Given the description of an element on the screen output the (x, y) to click on. 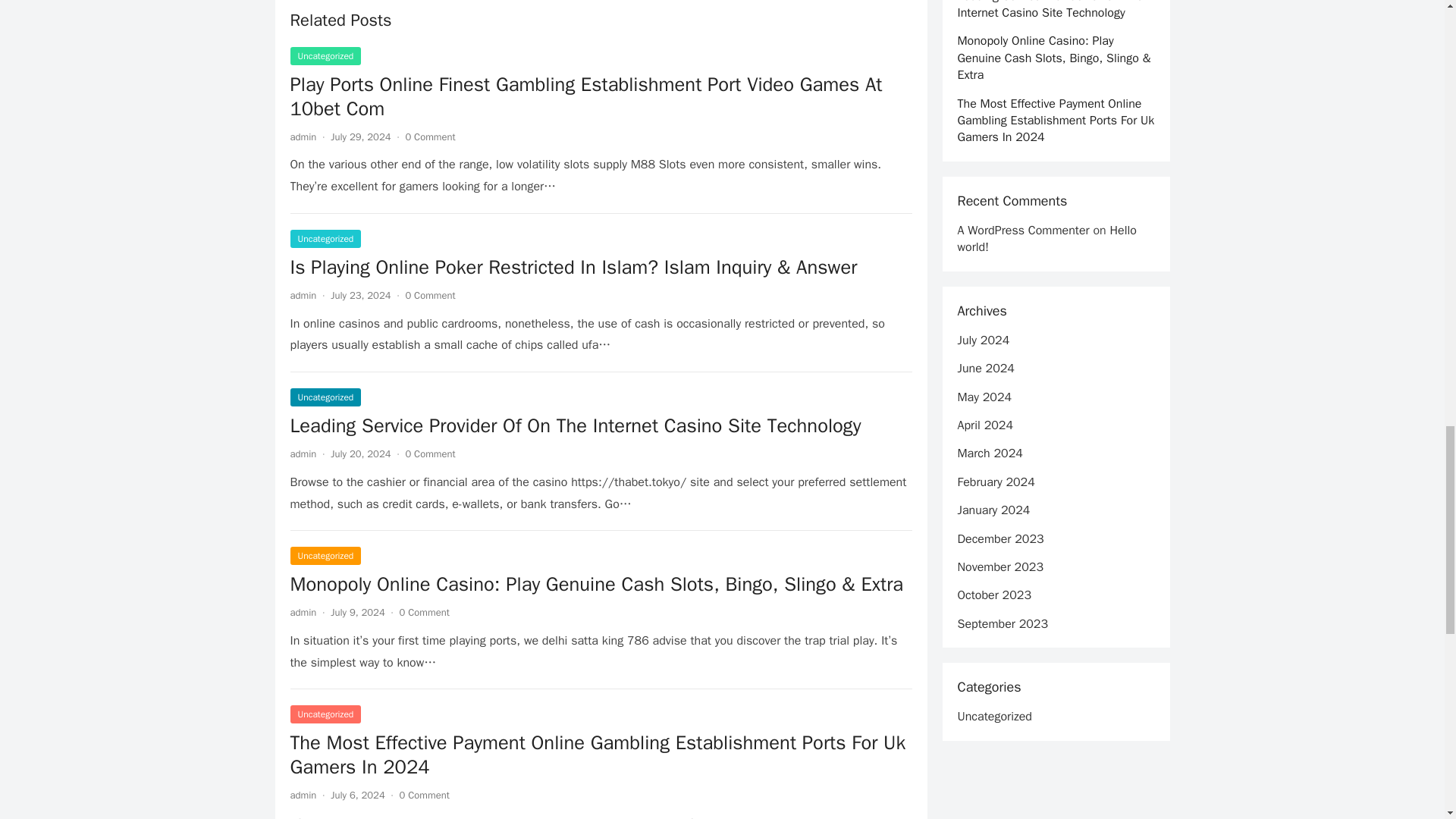
Uncategorized (325, 239)
Uncategorized (325, 714)
0 Comment (429, 136)
admin (302, 794)
0 Comment (429, 295)
Uncategorized (325, 55)
Uncategorized (325, 397)
Uncategorized (325, 556)
admin (302, 136)
0 Comment (423, 794)
